Given the description of an element on the screen output the (x, y) to click on. 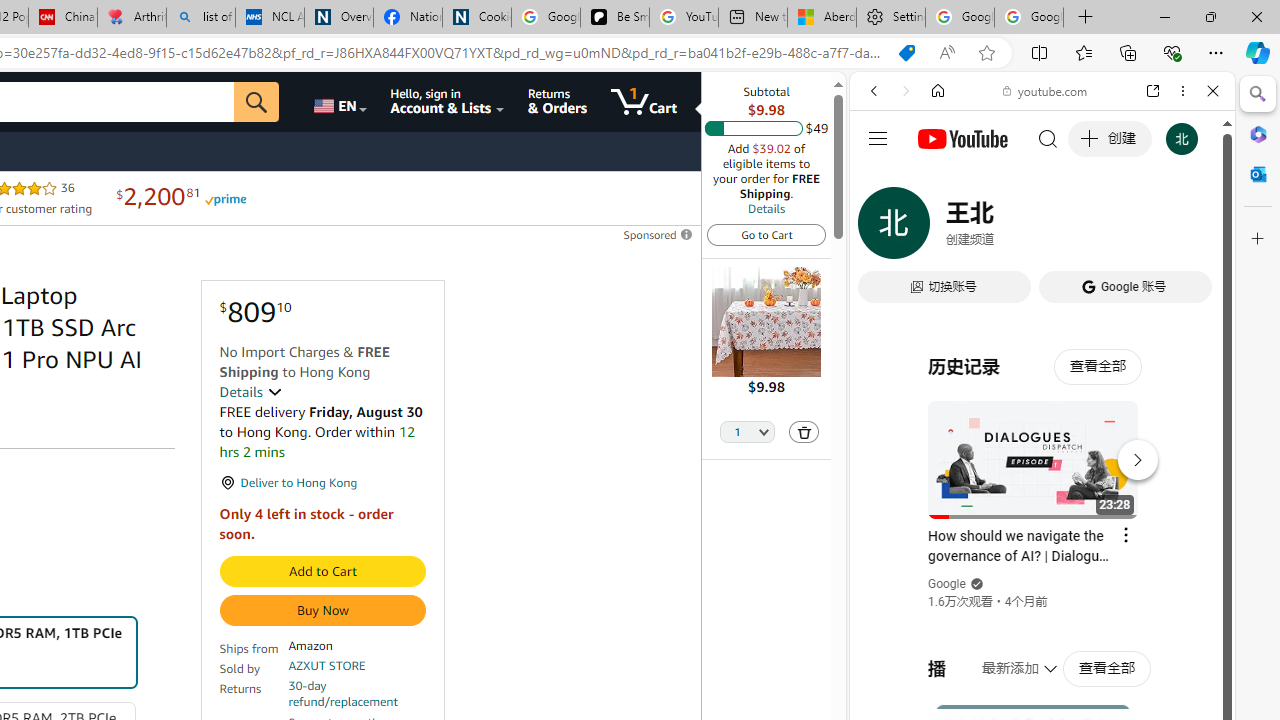
Search Filter, IMAGES (939, 228)
New tab (753, 17)
YouTube (1034, 296)
Favorites (1083, 52)
Delete (803, 431)
Search Filter, VIDEOS (1006, 228)
Hello, sign in Account & Lists (447, 101)
